Given the description of an element on the screen output the (x, y) to click on. 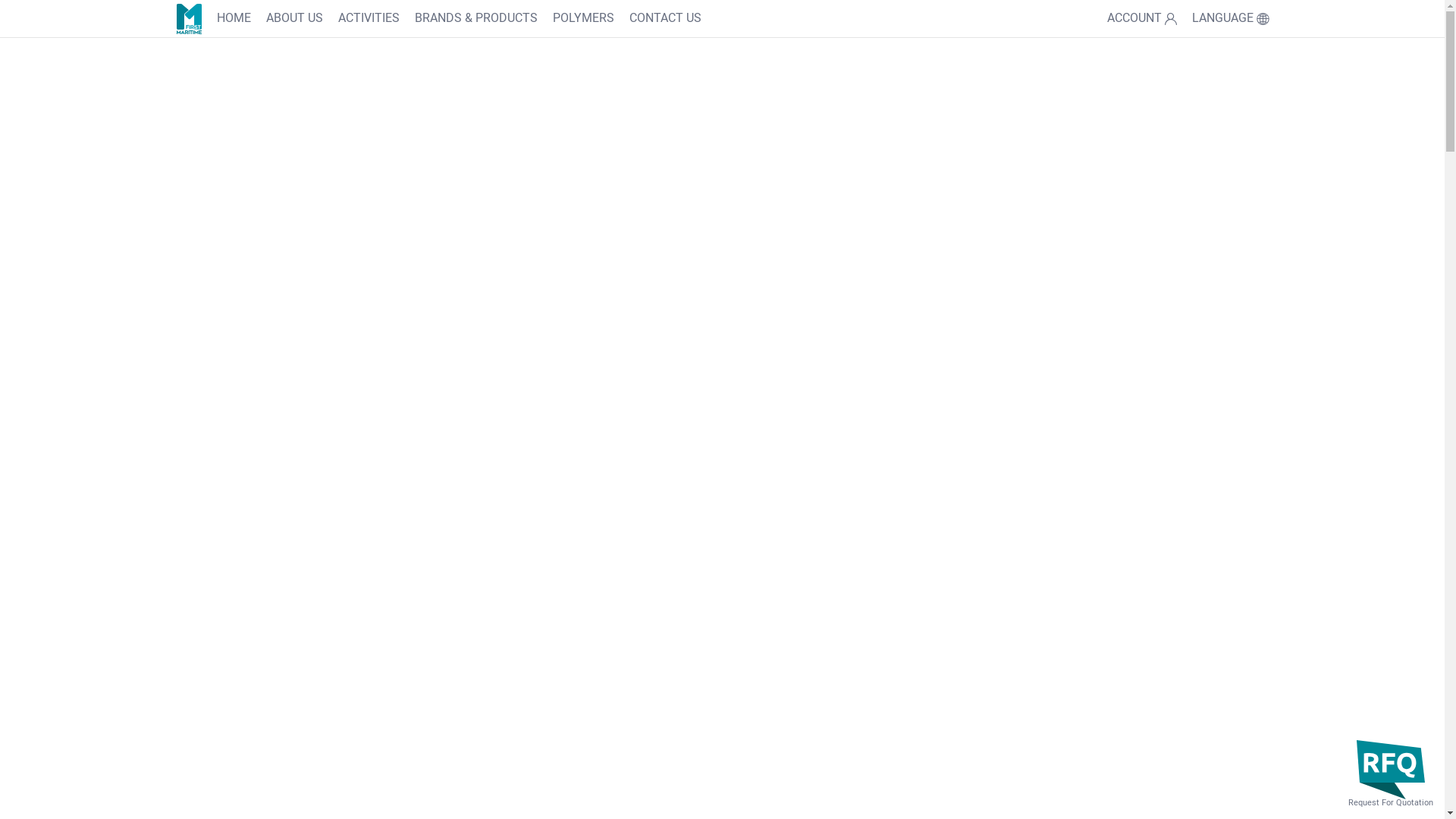
CONTACT US Element type: text (665, 18)
BRANDS & PRODUCTS Element type: text (475, 18)
Linkedin Element type: hover (437, 516)
LANGUAGE Element type: text (1230, 18)
Twitter Element type: hover (248, 516)
Instagram Element type: hover (311, 516)
Request For Quotation Element type: text (1390, 773)
ACCOUNT Element type: text (1141, 18)
HOME Element type: text (233, 18)
ABOUT US Element type: text (294, 18)
ACTIVITIES Element type: text (368, 18)
POLYMERS Element type: text (583, 18)
Facebook Element type: hover (373, 516)
